Given the description of an element on the screen output the (x, y) to click on. 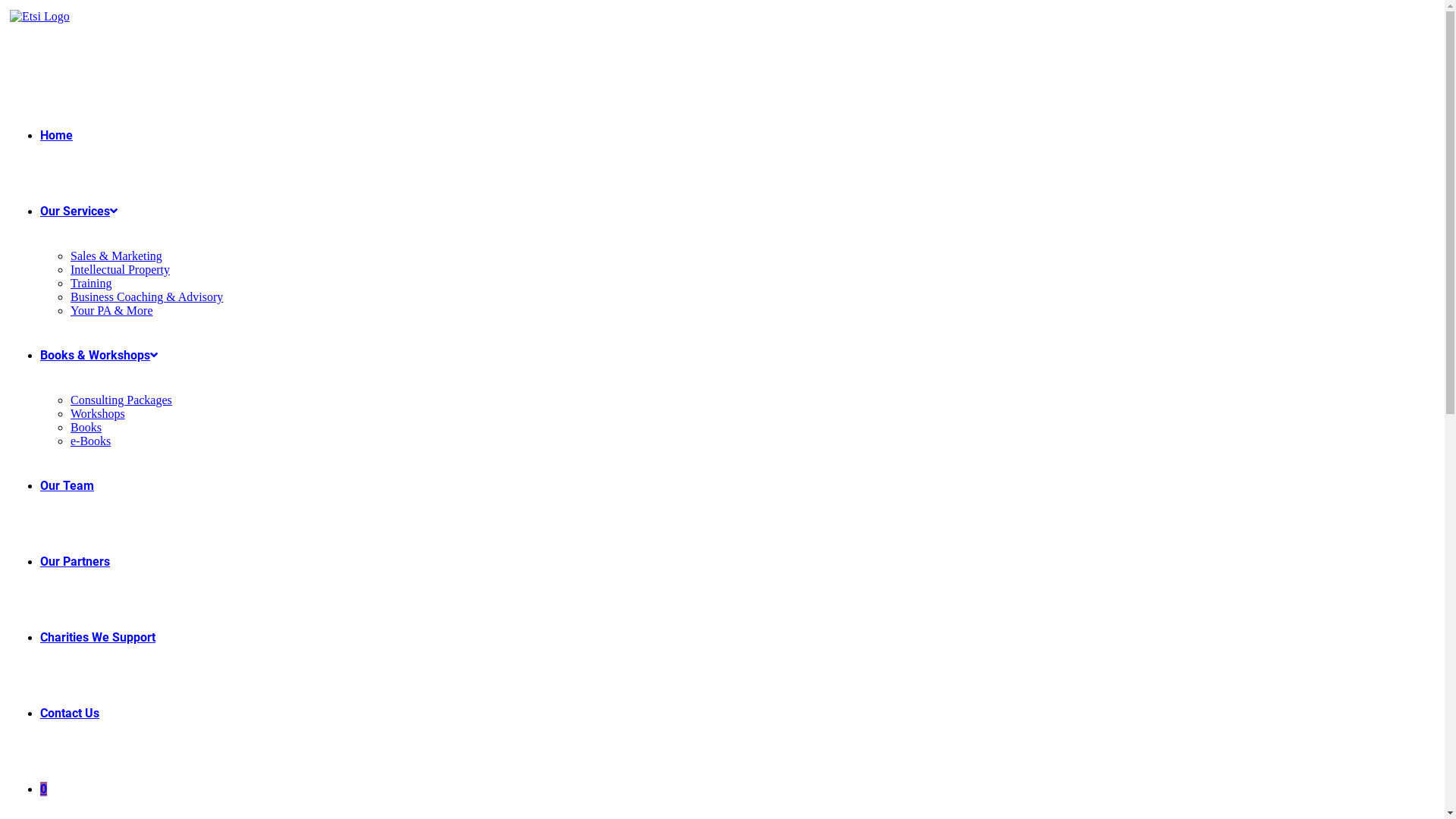
Our Partners Element type: text (74, 561)
Business Coaching & Advisory Element type: text (146, 296)
Consulting Packages Element type: text (121, 399)
Contact Us Element type: text (69, 713)
Your PA & More Element type: text (111, 310)
Sales & Marketing Element type: text (116, 255)
Books Element type: text (85, 426)
Home Element type: text (56, 135)
e-Books Element type: text (90, 440)
0 Element type: text (43, 788)
Intellectual Property Element type: text (119, 269)
Training Element type: text (91, 282)
Our Team Element type: text (67, 485)
Our Services Element type: text (78, 210)
Workshops Element type: text (97, 413)
Charities We Support Element type: text (97, 637)
Books & Workshops Element type: text (98, 355)
